Given the description of an element on the screen output the (x, y) to click on. 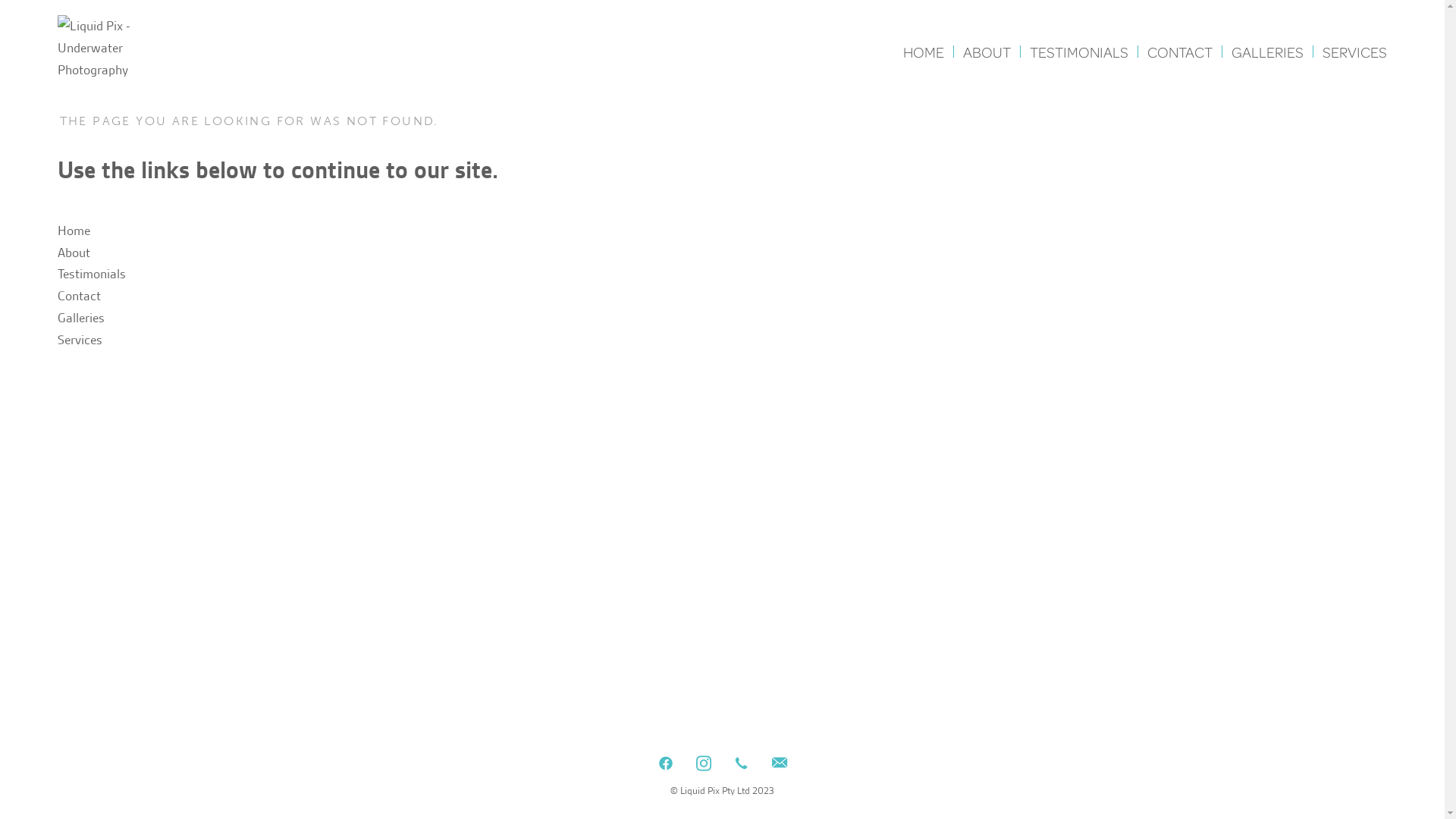
TESTIMONIALS Element type: text (1078, 52)
Galleries Element type: text (80, 317)
Services Element type: text (79, 339)
Liquid Pix - Underwater Photography Element type: hover (112, 47)
Powered by liveBooks Element type: text (722, 808)
SERVICES Element type: text (1354, 52)
CONTACT Element type: text (1179, 52)
About Element type: text (73, 252)
ABOUT Element type: text (986, 52)
Contact Element type: text (78, 295)
GALLERIES Element type: text (1267, 52)
Testimonials Element type: text (91, 273)
Home Element type: text (73, 230)
HOME Element type: text (923, 52)
